Given the description of an element on the screen output the (x, y) to click on. 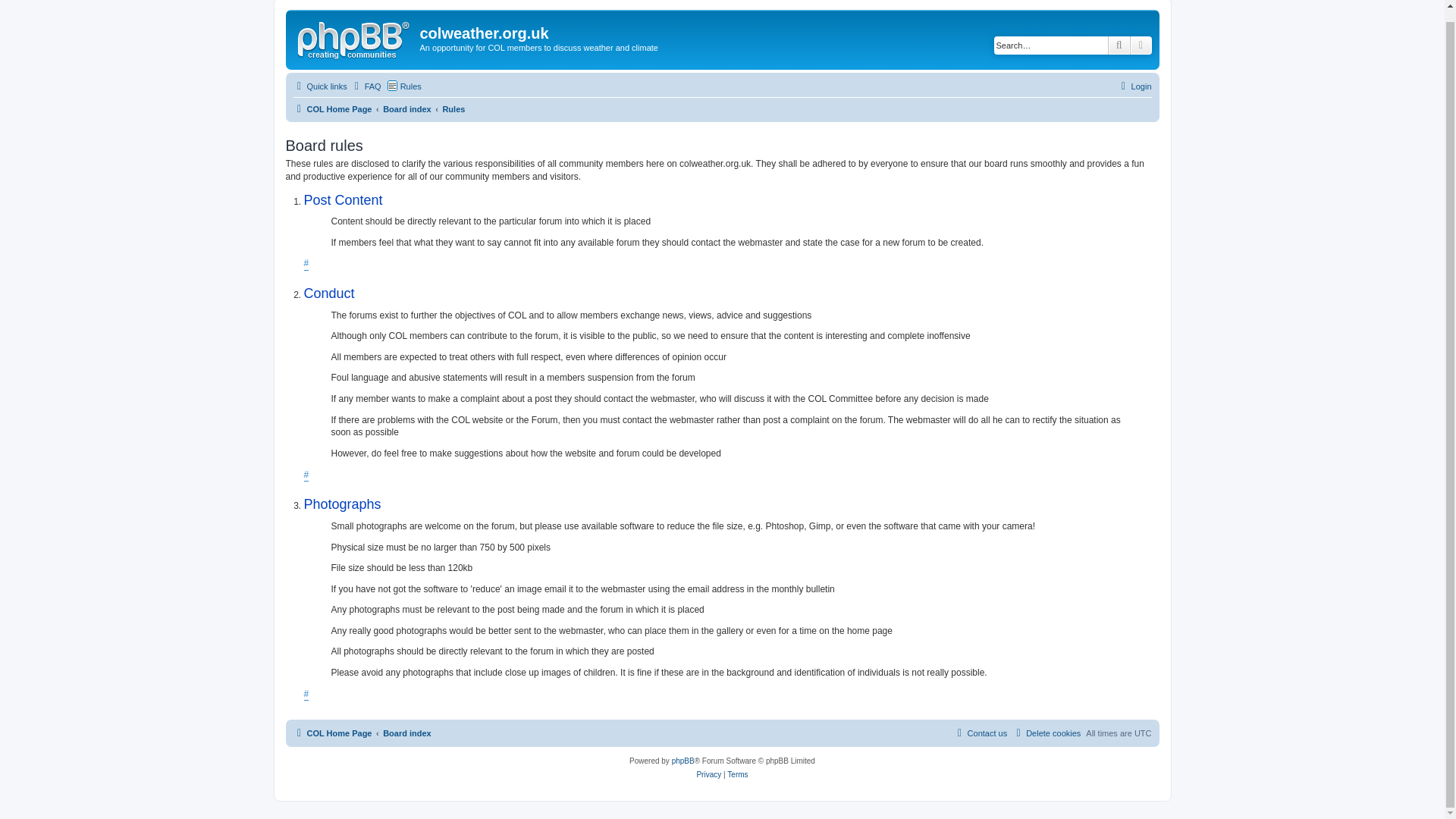
Advanced search (1141, 45)
COL Home Page (331, 108)
Login (1134, 85)
Privacy (707, 775)
Search for keywords (1051, 45)
Delete cookies (1045, 732)
Quick links (319, 85)
Contact us (980, 732)
Advanced search (1141, 45)
phpBB (682, 761)
Terms (737, 775)
Board index (406, 108)
Rules (453, 108)
UTC (1142, 732)
Frequently Asked Questions (365, 85)
